Given the description of an element on the screen output the (x, y) to click on. 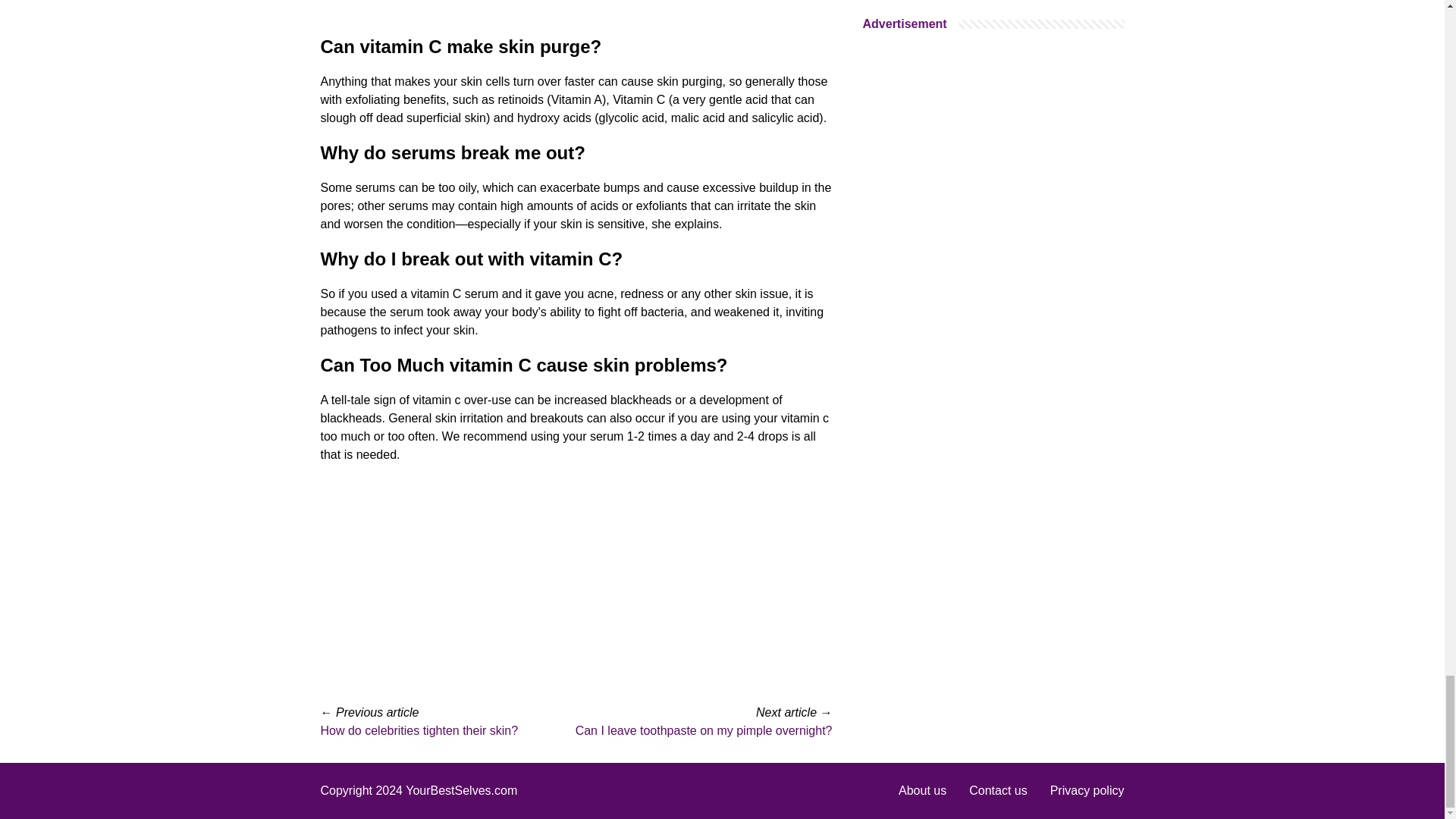
How do celebrities tighten their skin? (419, 730)
Can I leave toothpaste on my pimple overnight? (703, 730)
